Given the description of an element on the screen output the (x, y) to click on. 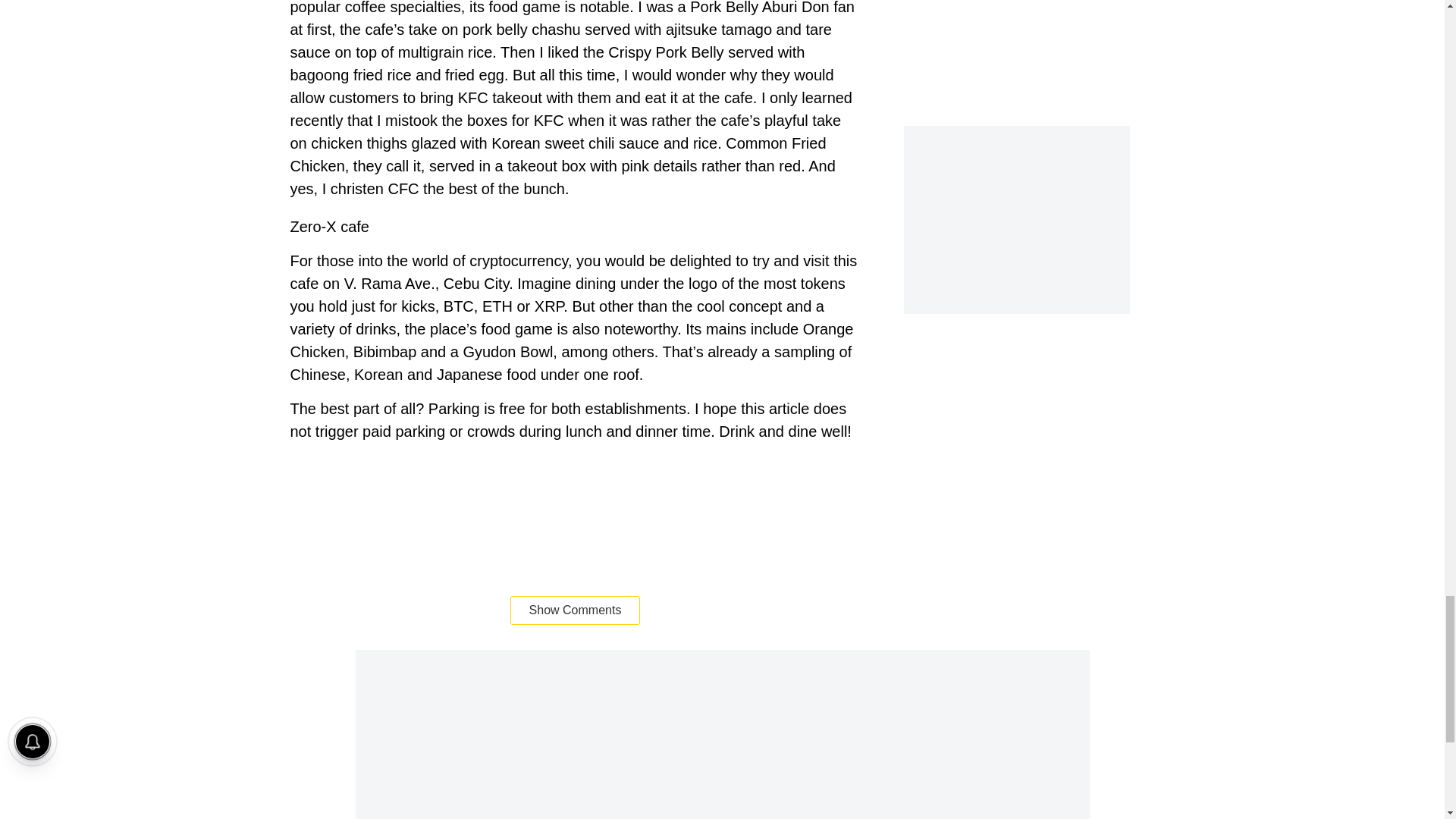
Show Comments (575, 610)
